Given the description of an element on the screen output the (x, y) to click on. 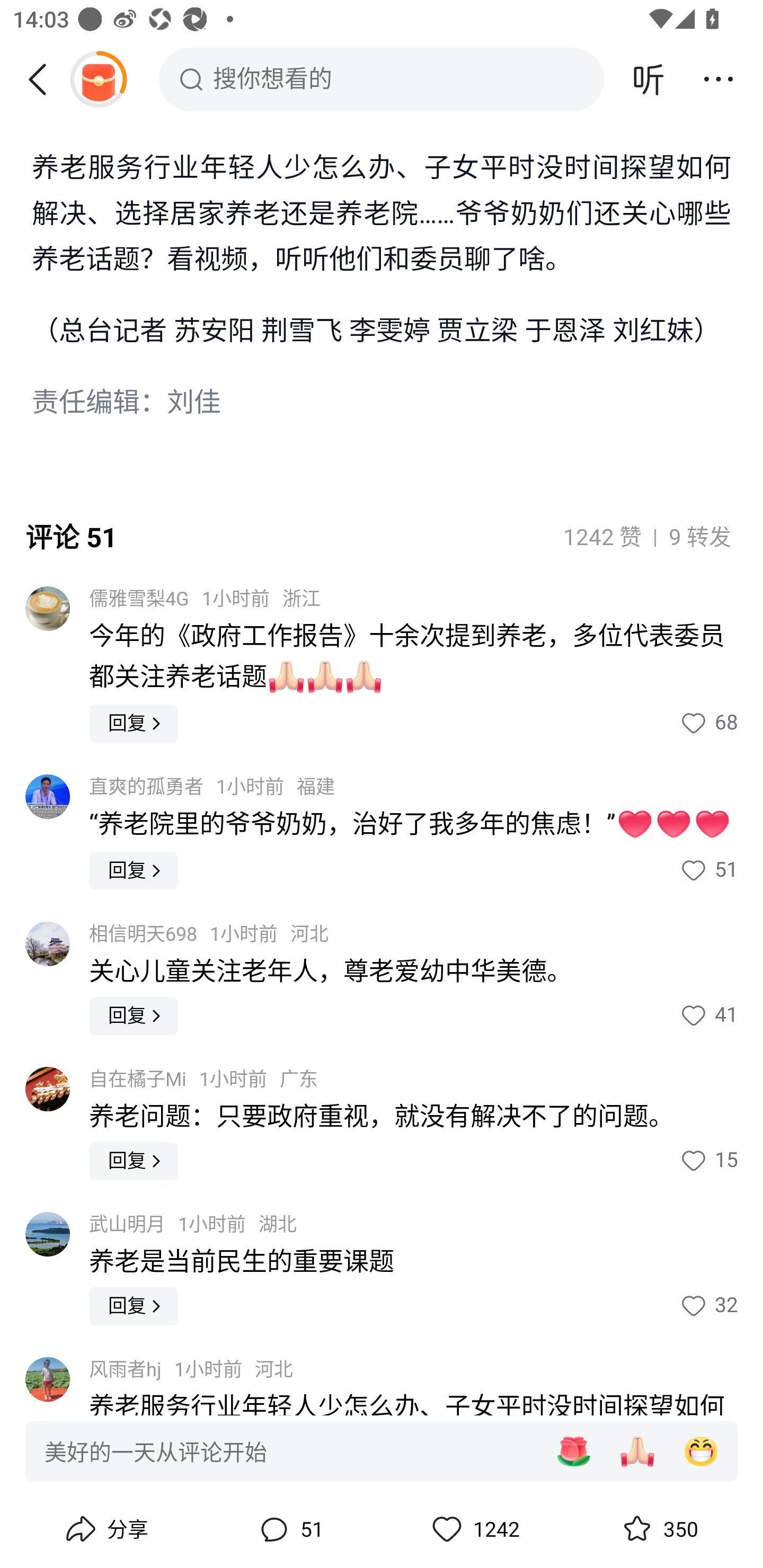
返回 (44, 78)
听头条 (648, 78)
更多操作 (718, 78)
搜你想看的 搜索框，搜你想看的 (381, 79)
阅读赚金币 (98, 79)
儒雅雪梨4G 1小时前 浙江 (204, 598)
回复 (133, 723)
直爽的孤勇者 1小时前 福建 (211, 787)
回复 (133, 870)
相信明天698 1小时前 河北 (208, 934)
回复 (133, 1015)
自在橘子Mi 1小时前 广东 (203, 1079)
回复 (133, 1160)
武山明月 1小时前 湖北 (192, 1224)
回复 (133, 1305)
风雨者hj 1小时前 河北 (190, 1370)
美好的一天从评论开始 [玫瑰] [祈祷] [呲牙] (381, 1449)
[玫瑰] (573, 1451)
[祈祷] (636, 1451)
[呲牙] (700, 1451)
分享 (104, 1529)
评论,51 51 (288, 1529)
收藏,350 350 (658, 1529)
